Given the description of an element on the screen output the (x, y) to click on. 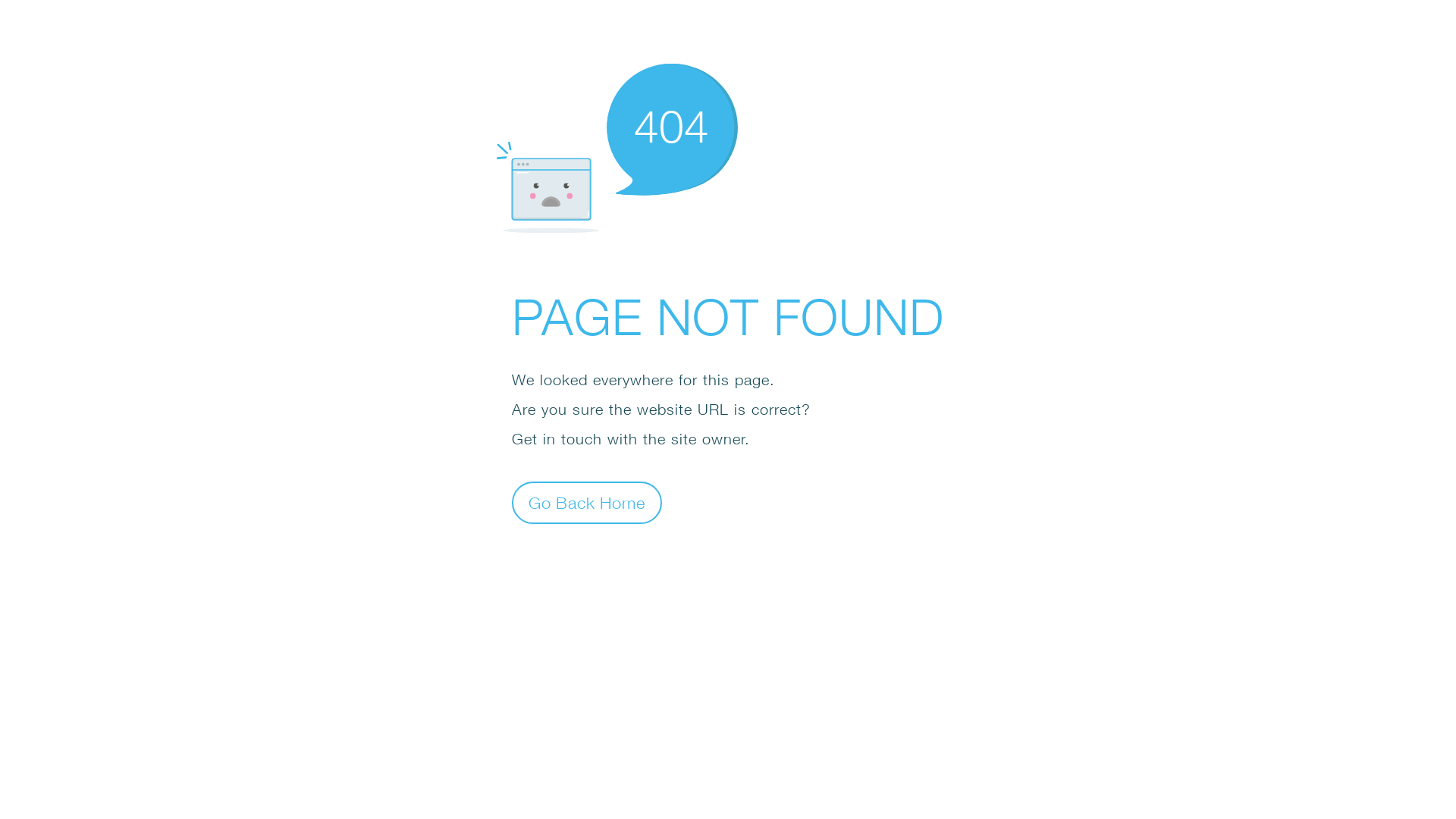
Go Back Home Element type: text (586, 502)
